Given the description of an element on the screen output the (x, y) to click on. 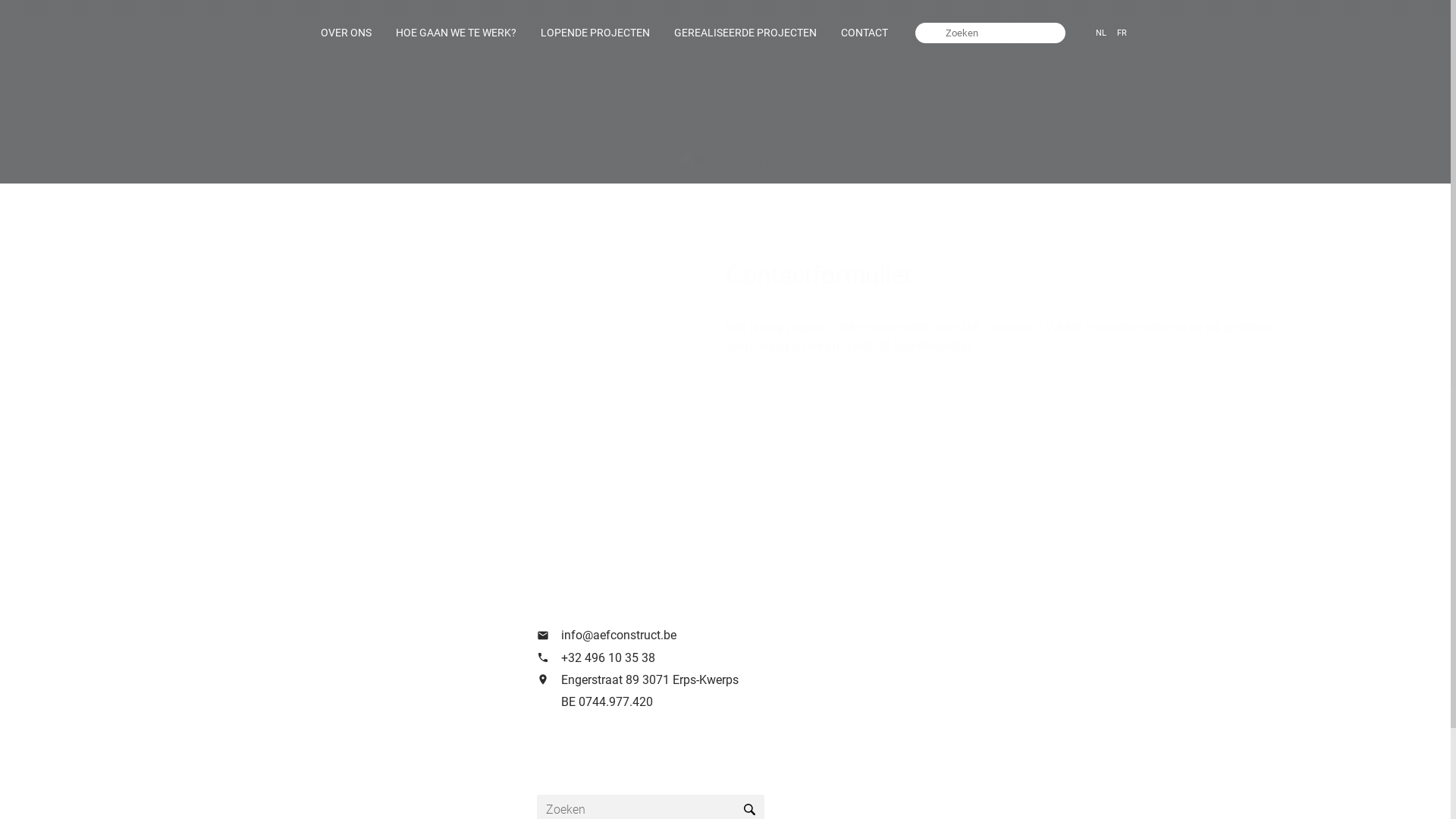
AEF Construct Element type: hover (724, 161)
NL Element type: text (1100, 32)
Share via whatsapp Element type: hover (1131, 506)
LOPENDE PROJECTEN Element type: text (594, 32)
mail
info@aefconstruct.be Element type: text (698, 635)
OVER ONS Element type: text (345, 32)
Share via facebook Element type: hover (1021, 506)
GEREALISEERDE PROJECTEN Element type: text (745, 32)
CONTACT Element type: text (864, 32)
FR Element type: text (1121, 32)
phone
+32 496 10 35 38 Element type: text (698, 657)
Share via linkedin Element type: hover (1076, 506)
Share via mail Element type: hover (1103, 506)
AEF Construct Facebook Element type: hover (550, 750)
HOE GAAN WE TE WERK? Element type: text (455, 32)
Share via X Element type: hover (1048, 506)
location_on
Engerstraat 89 3071 Erps-Kwerps Element type: text (698, 679)
